Given the description of an element on the screen output the (x, y) to click on. 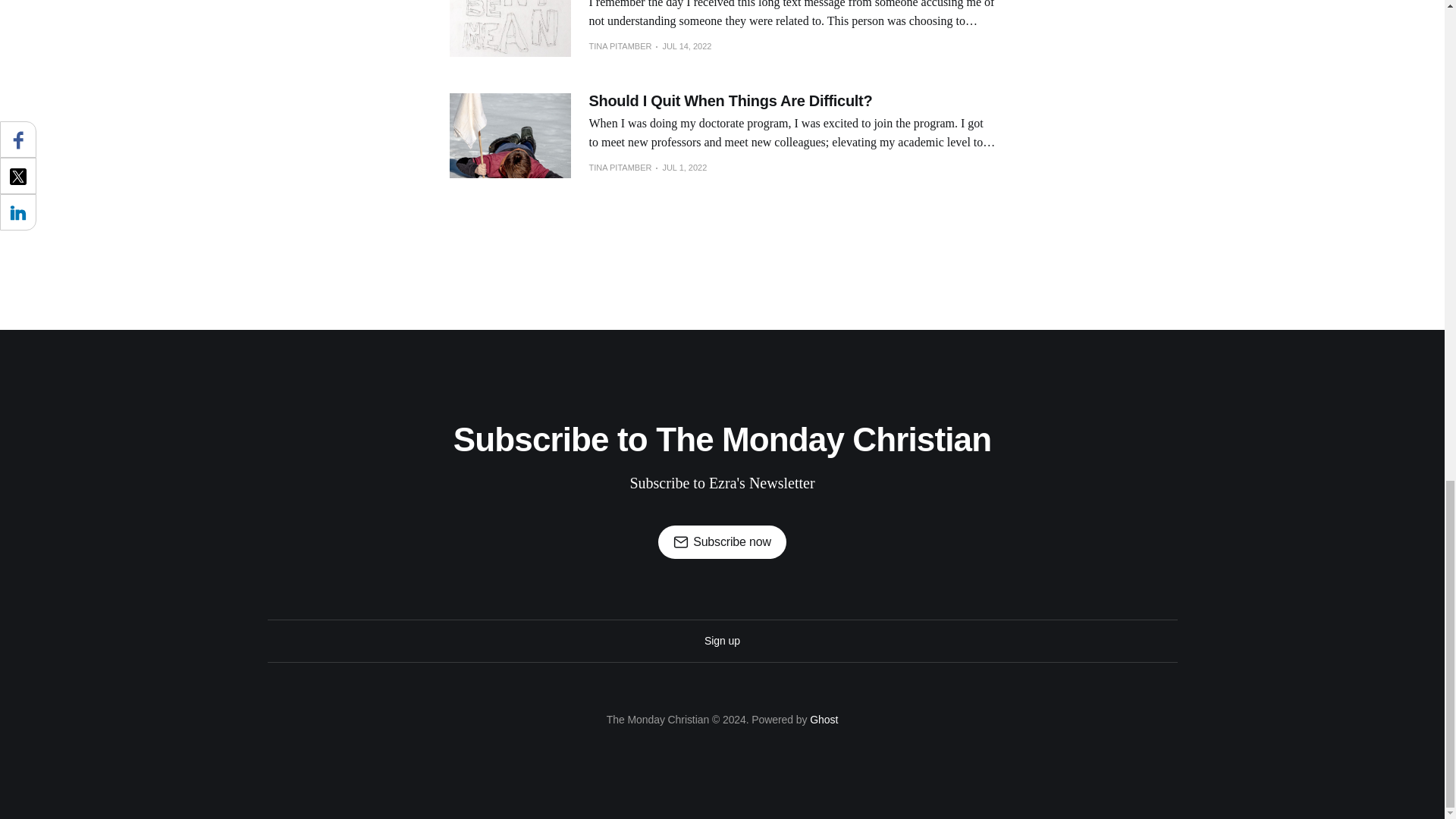
Sign up (721, 640)
Ghost (823, 719)
Subscribe now (722, 541)
